Given the description of an element on the screen output the (x, y) to click on. 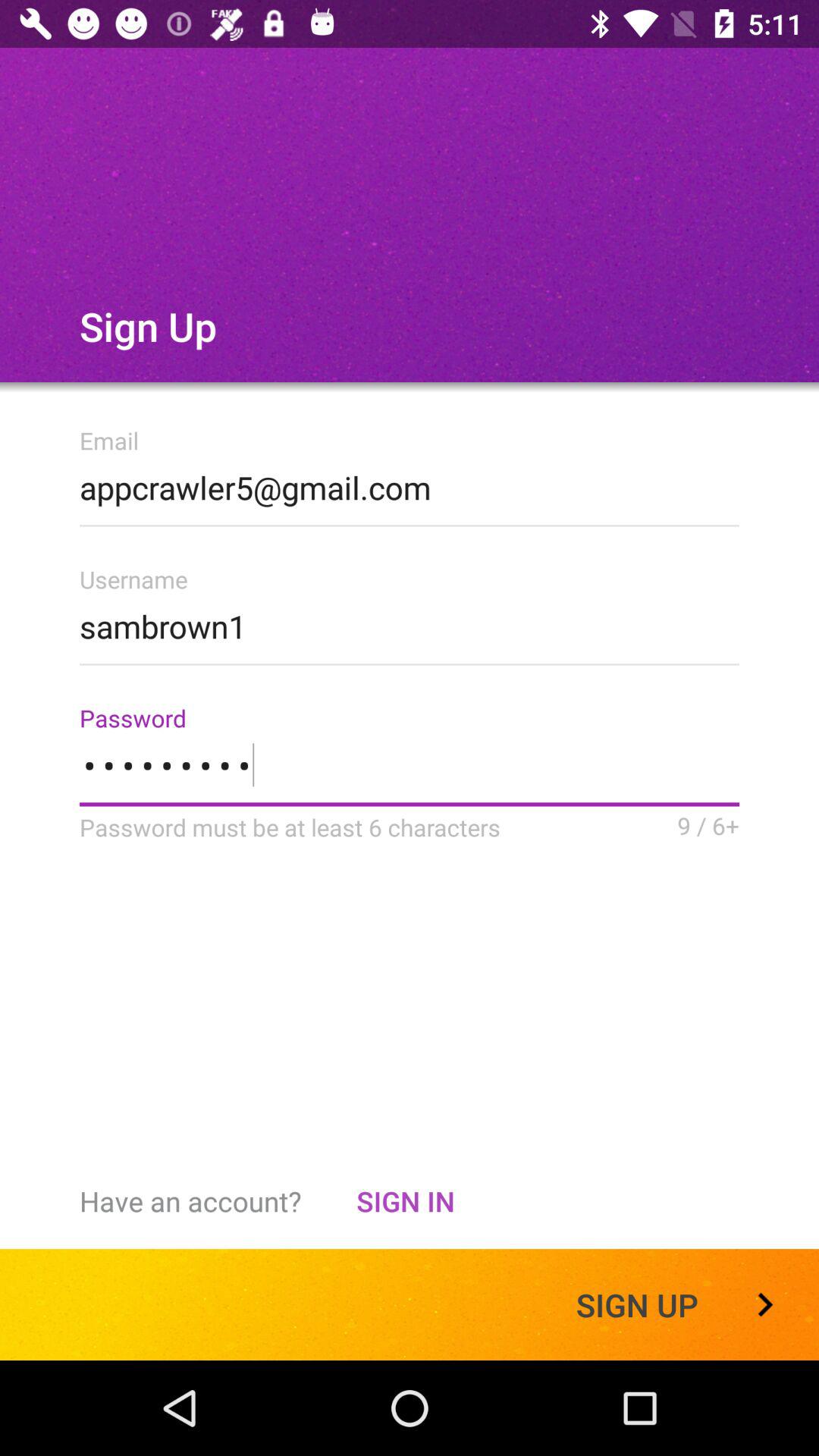
turn on the item to the left of sign up item (405, 1200)
